Given the description of an element on the screen output the (x, y) to click on. 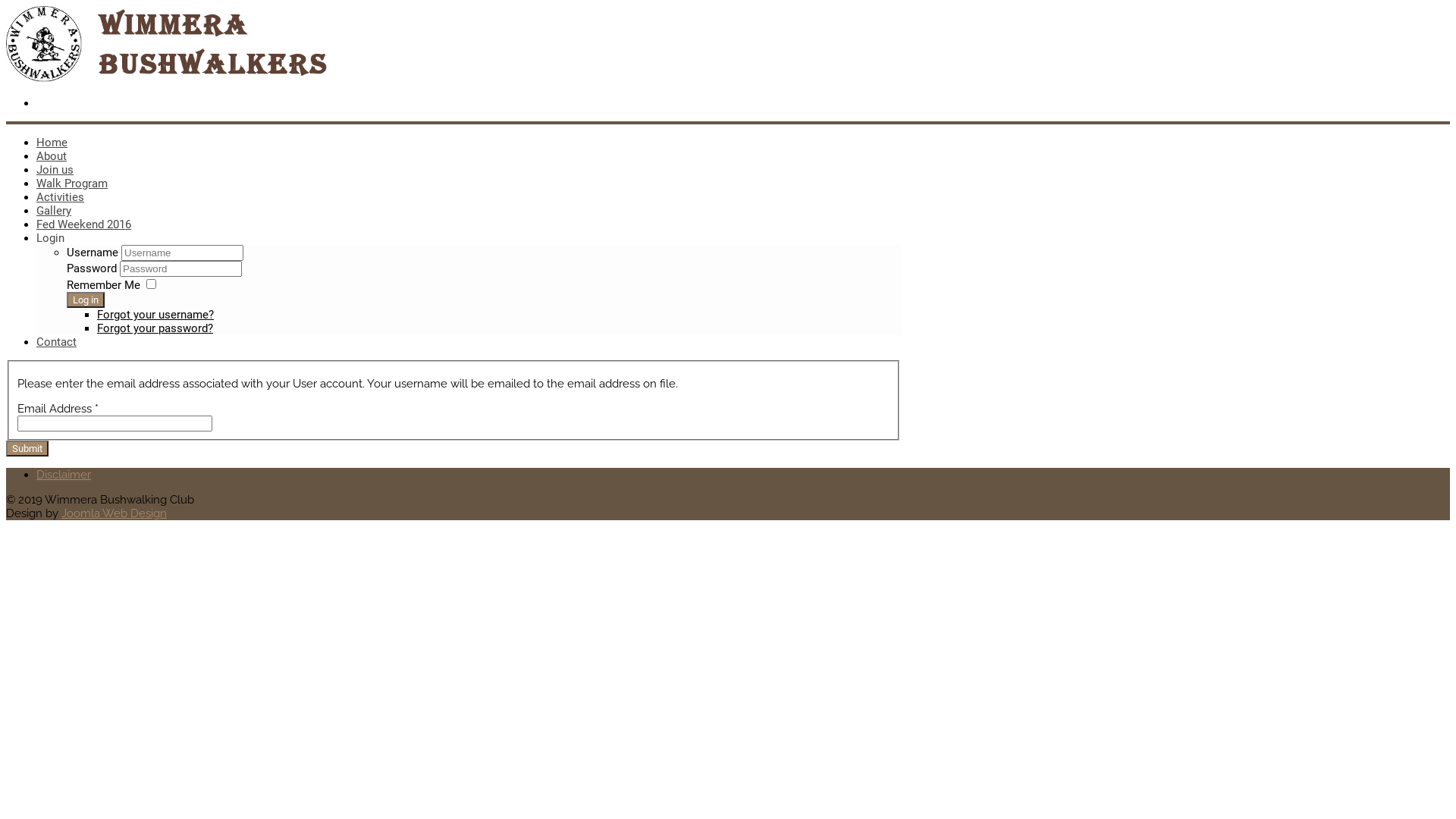
Activities Element type: text (60, 196)
Disclaimer Element type: text (63, 474)
Login Element type: text (50, 237)
Forgot your password? Element type: text (155, 328)
Gallery Element type: text (53, 210)
Forgot your username? Element type: text (155, 314)
About Element type: text (51, 156)
Log in Element type: text (85, 299)
Joomla Web Design Element type: text (113, 513)
Contact Element type: text (56, 341)
Join us Element type: text (54, 169)
Facebook Element type: text (39, 102)
Walk Program Element type: text (71, 183)
Home Element type: text (51, 142)
Fed Weekend 2016 Element type: text (83, 224)
Submit Element type: text (27, 448)
